Given the description of an element on the screen output the (x, y) to click on. 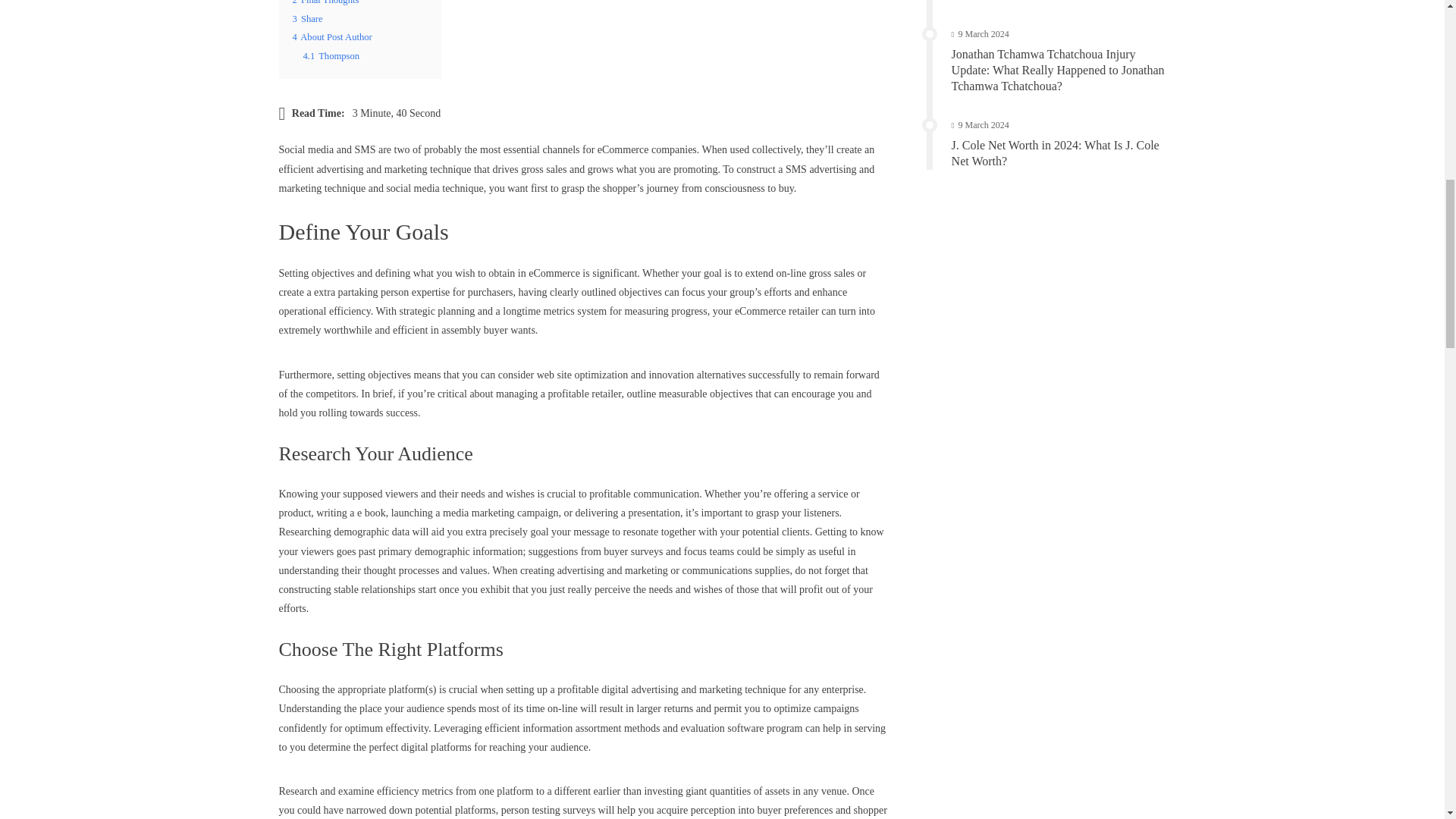
4 About Post Author (332, 36)
4.1 Thompson (330, 55)
3 Share (307, 18)
2 Final Thoughts (325, 2)
